Given the description of an element on the screen output the (x, y) to click on. 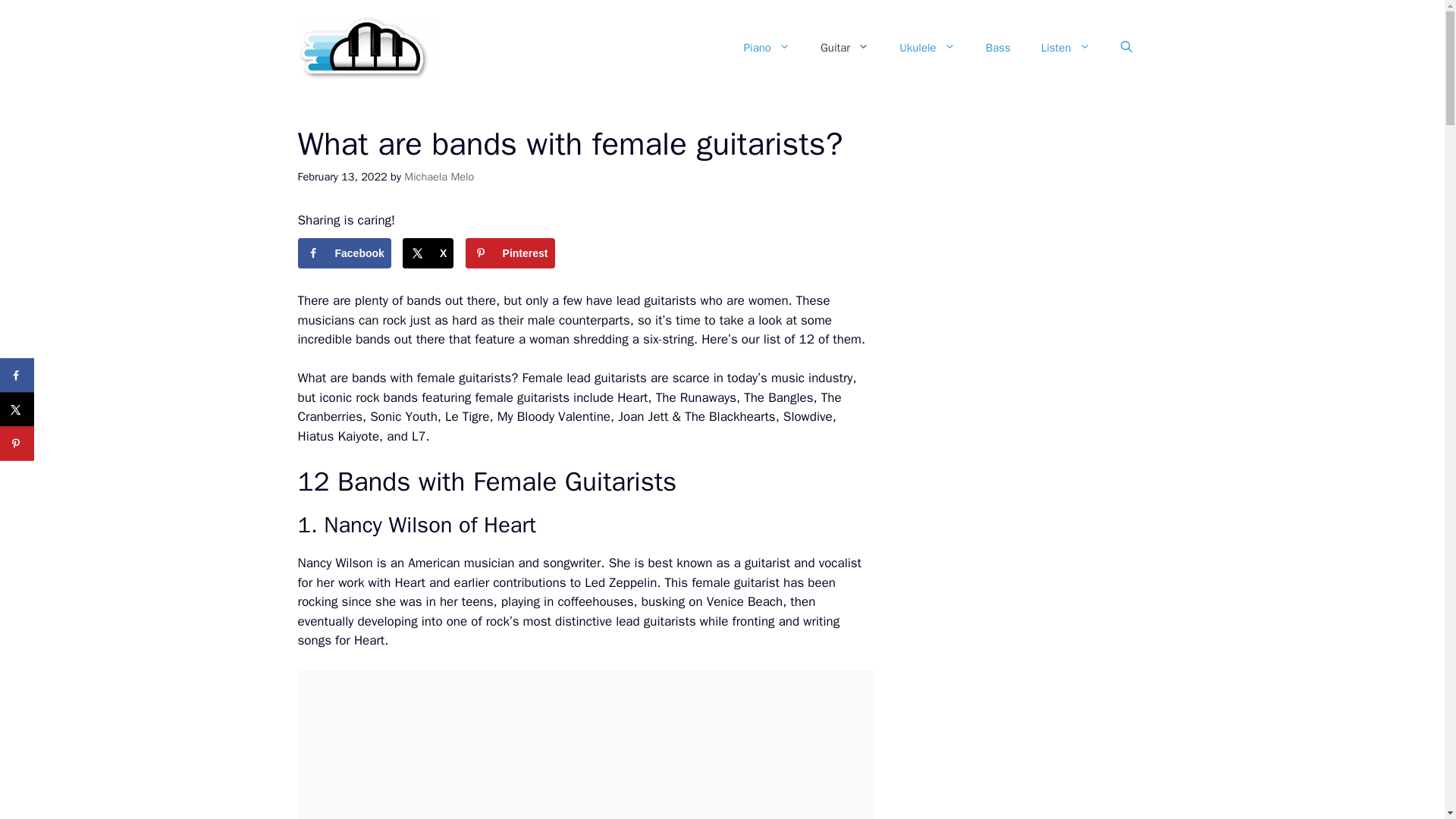
Pinterest (509, 253)
Piano (767, 46)
View all posts by Michaela Melo (439, 176)
X (427, 253)
Bass (998, 46)
Facebook (343, 253)
Share on Facebook (343, 253)
Share on X (16, 409)
Save to Pinterest (509, 253)
Save to Pinterest (16, 442)
Ukulele (927, 46)
Share on Facebook (16, 374)
Michaela Melo (439, 176)
Share on X (427, 253)
Listen (1065, 46)
